Given the description of an element on the screen output the (x, y) to click on. 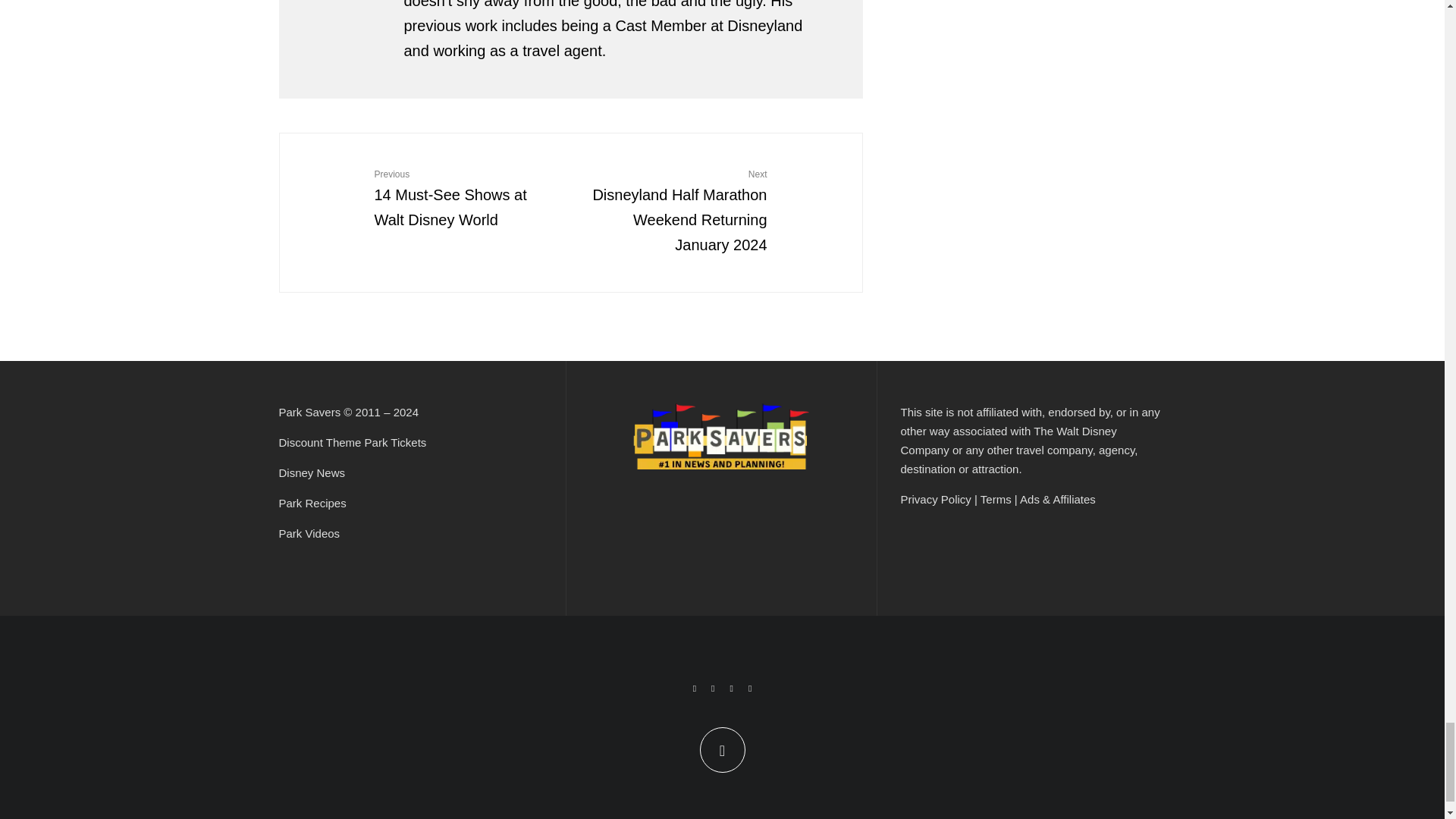
Disneyland Half Marathon Weekend Returning January 2024 19 (809, 186)
14 Must-See Shows at Walt Disney World 18 (333, 186)
